Given the description of an element on the screen output the (x, y) to click on. 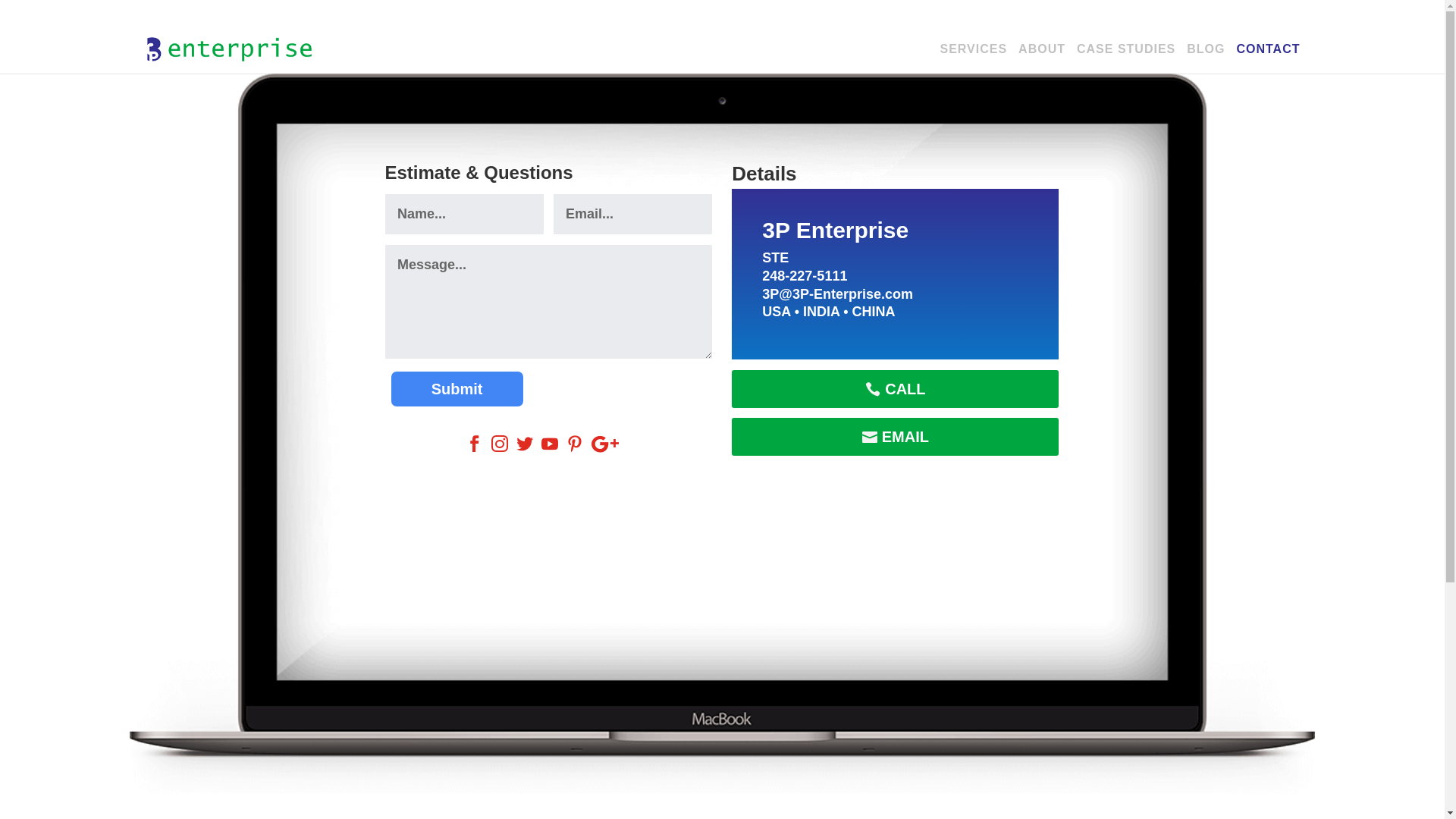
STE
248-227-5111 Element type: text (804, 266)
BLOG Element type: text (1205, 58)
SERVICES Element type: text (973, 58)
CALL Element type: text (894, 388)
ABOUT Element type: text (1041, 58)
CASE STUDIES Element type: text (1125, 58)
Submit Element type: text (457, 388)
CONTACT Element type: text (1267, 58)
3P@3P-Enterprise.com Element type: text (837, 293)
EMAIL Element type: text (894, 436)
